Given the description of an element on the screen output the (x, y) to click on. 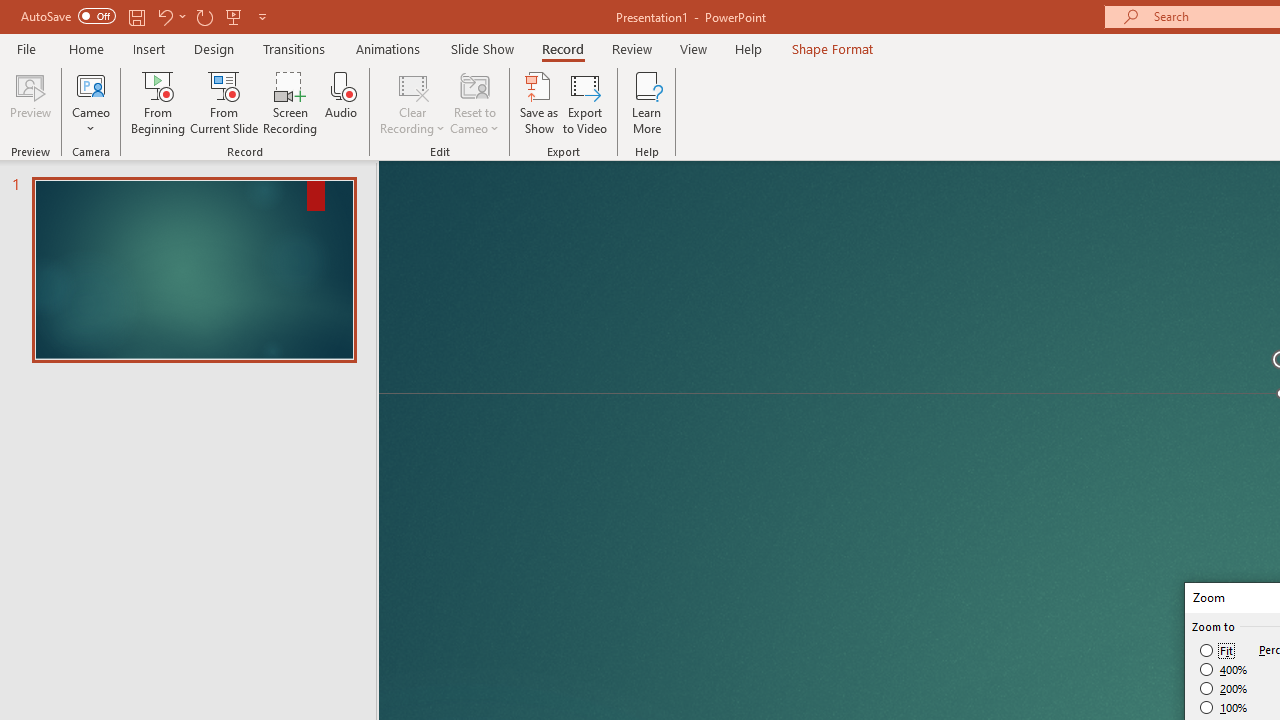
Learn More (646, 102)
From Beginning... (158, 102)
